Given the description of an element on the screen output the (x, y) to click on. 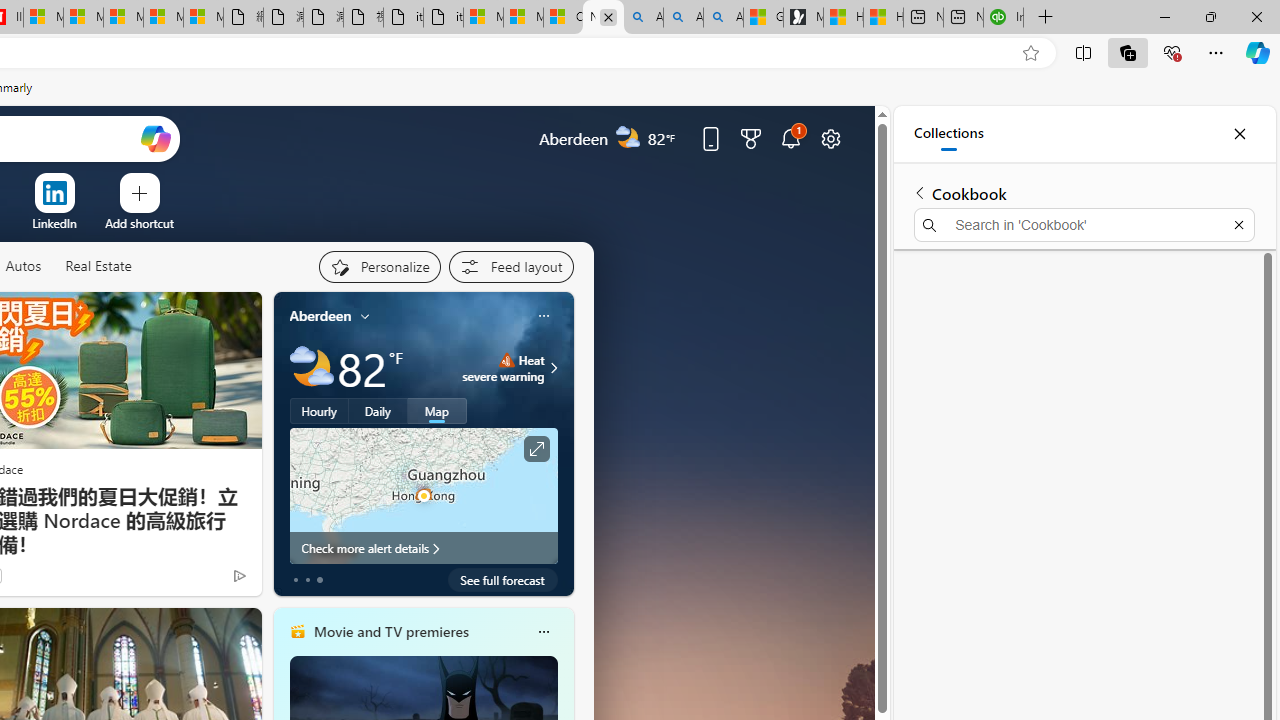
You're following Newsweek (197, 579)
Add a site (139, 223)
Consumer Health Data Privacy Policy (563, 17)
See full forecast (502, 579)
